Given the description of an element on the screen output the (x, y) to click on. 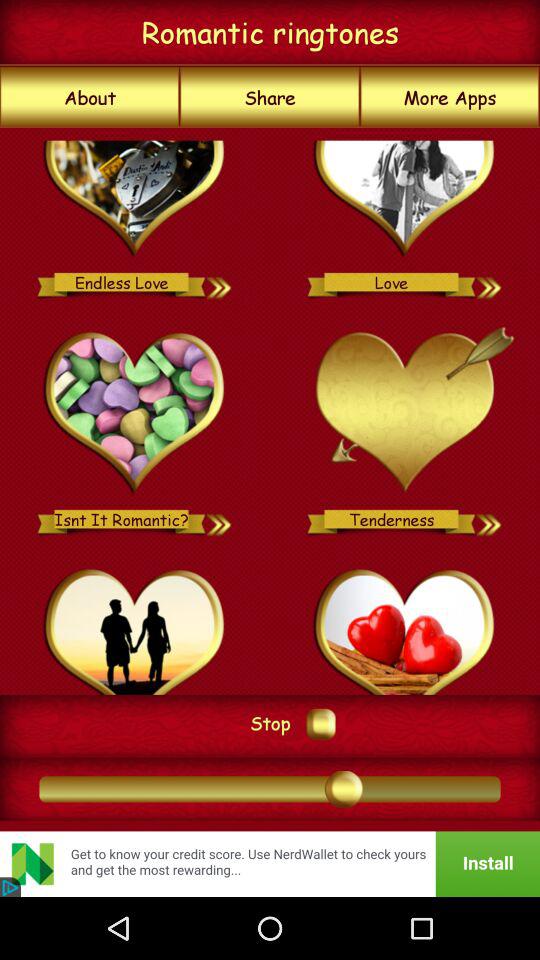
tap the icon below romantic ringtones icon (90, 97)
